Given the description of an element on the screen output the (x, y) to click on. 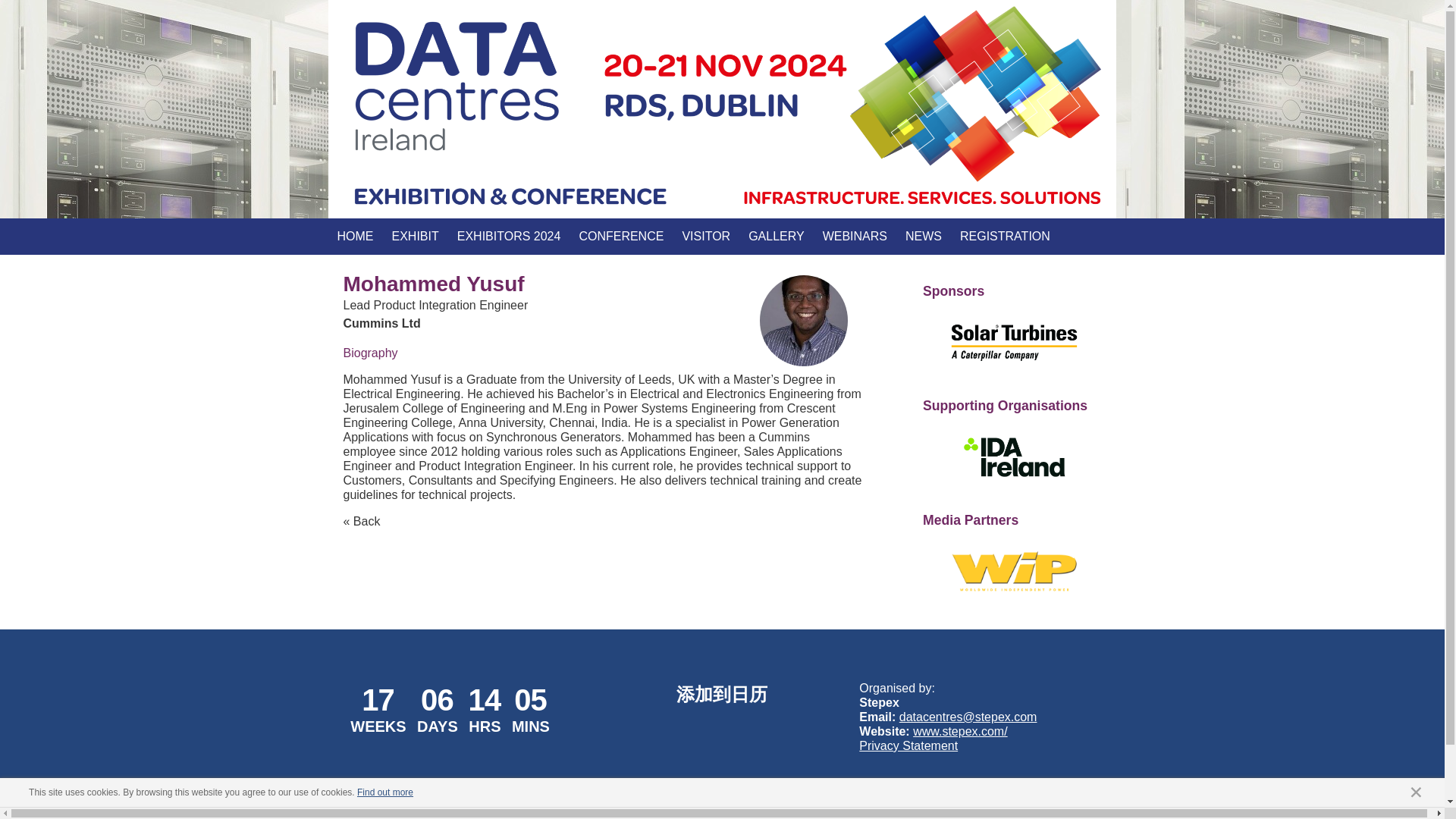
Solar Turbines Switzerland Sagl (1012, 342)
WEBINARS (854, 236)
EXHIBITORS 2024 (509, 236)
CONFERENCE (620, 236)
GALLERY (776, 236)
HOME (354, 236)
REGISTRATION (1004, 236)
NEWS (923, 236)
VISITOR (705, 236)
EXHIBIT (413, 236)
IDA Ireland (1012, 457)
